Given the description of an element on the screen output the (x, y) to click on. 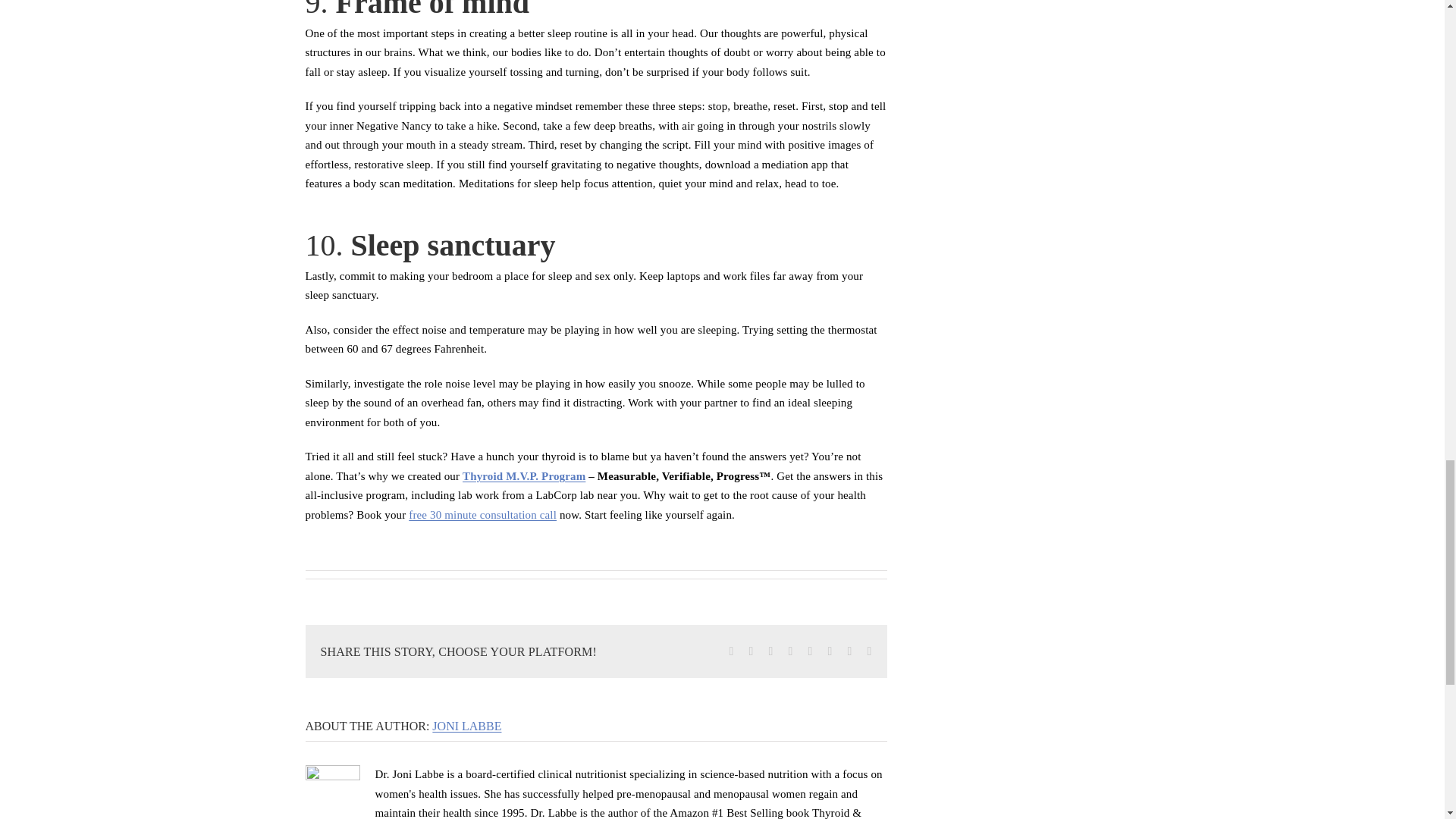
Thyroid M.V.P. Program (524, 476)
